Given the description of an element on the screen output the (x, y) to click on. 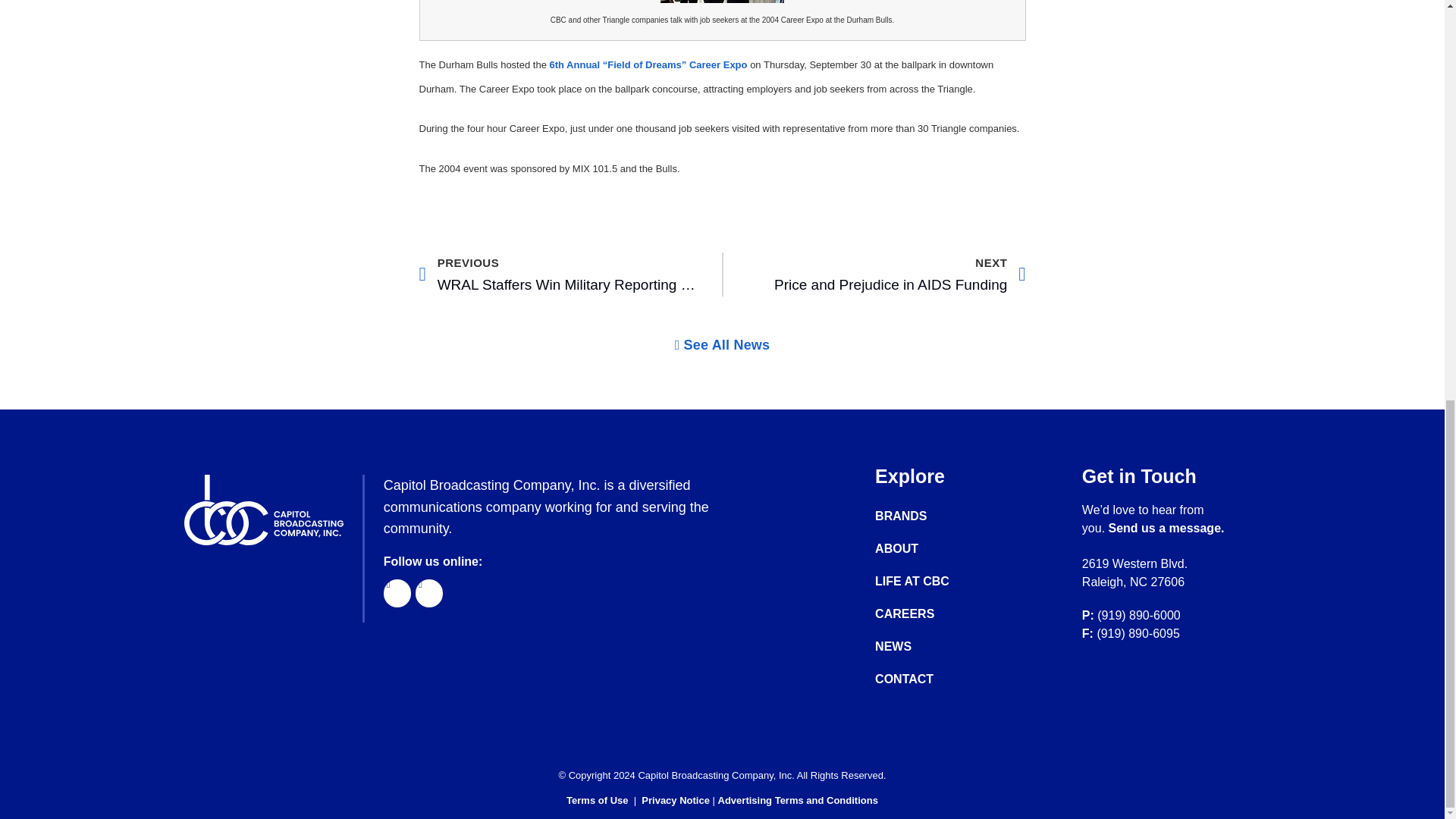
ABOUT (926, 548)
See All News (722, 345)
Privacy Notice (676, 799)
BRANDS (926, 516)
CONTACT (926, 679)
NEWS (558, 274)
Send us a message. (926, 646)
LIFE AT CBC (1166, 527)
CAREERS (926, 581)
